Given the description of an element on the screen output the (x, y) to click on. 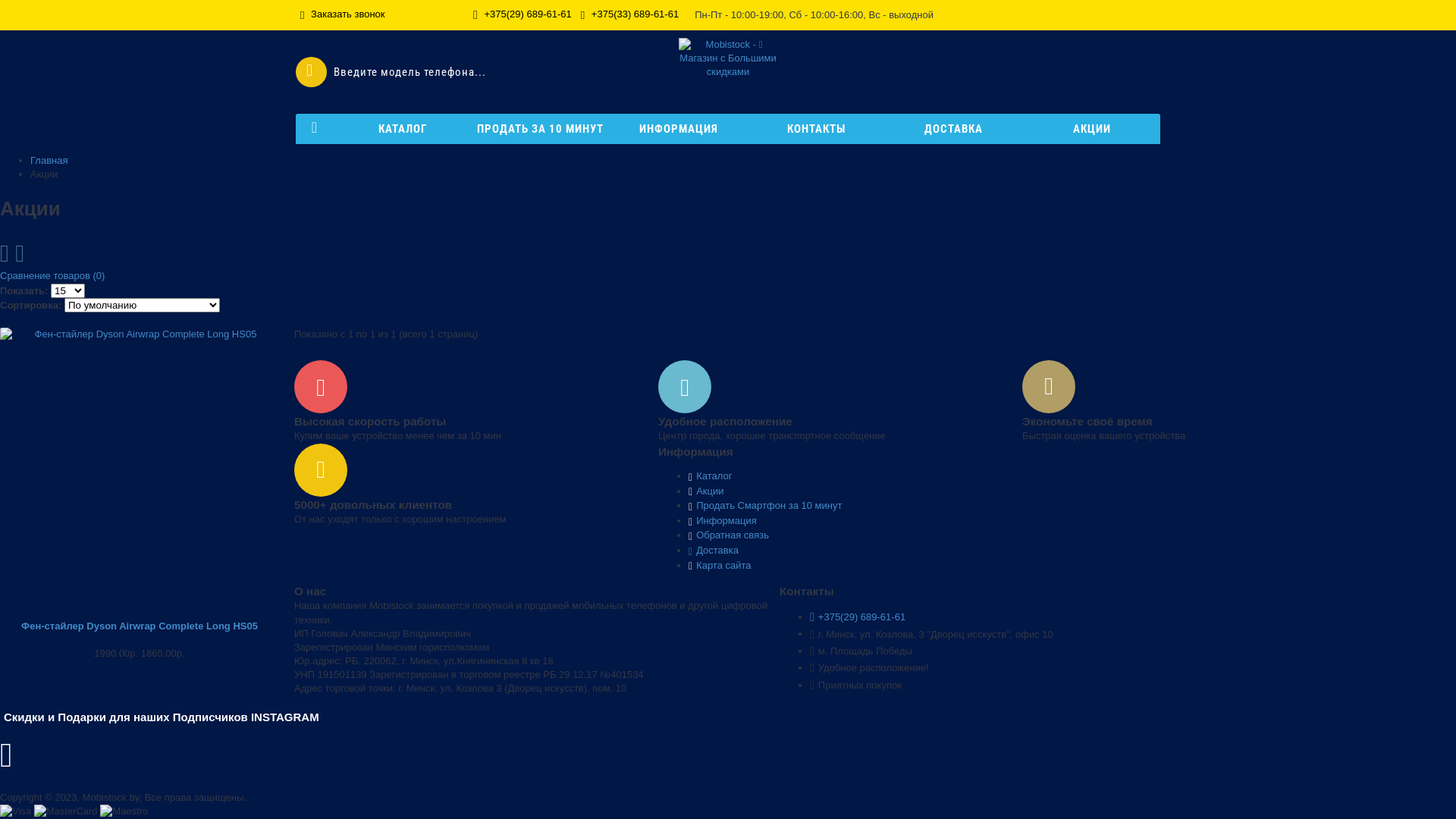
+375(29) 689-61-61 Element type: text (857, 616)
+375(29) 689-61-61 Element type: text (522, 15)
+375(33) 689-61-61 Element type: text (629, 15)
